Given the description of an element on the screen output the (x, y) to click on. 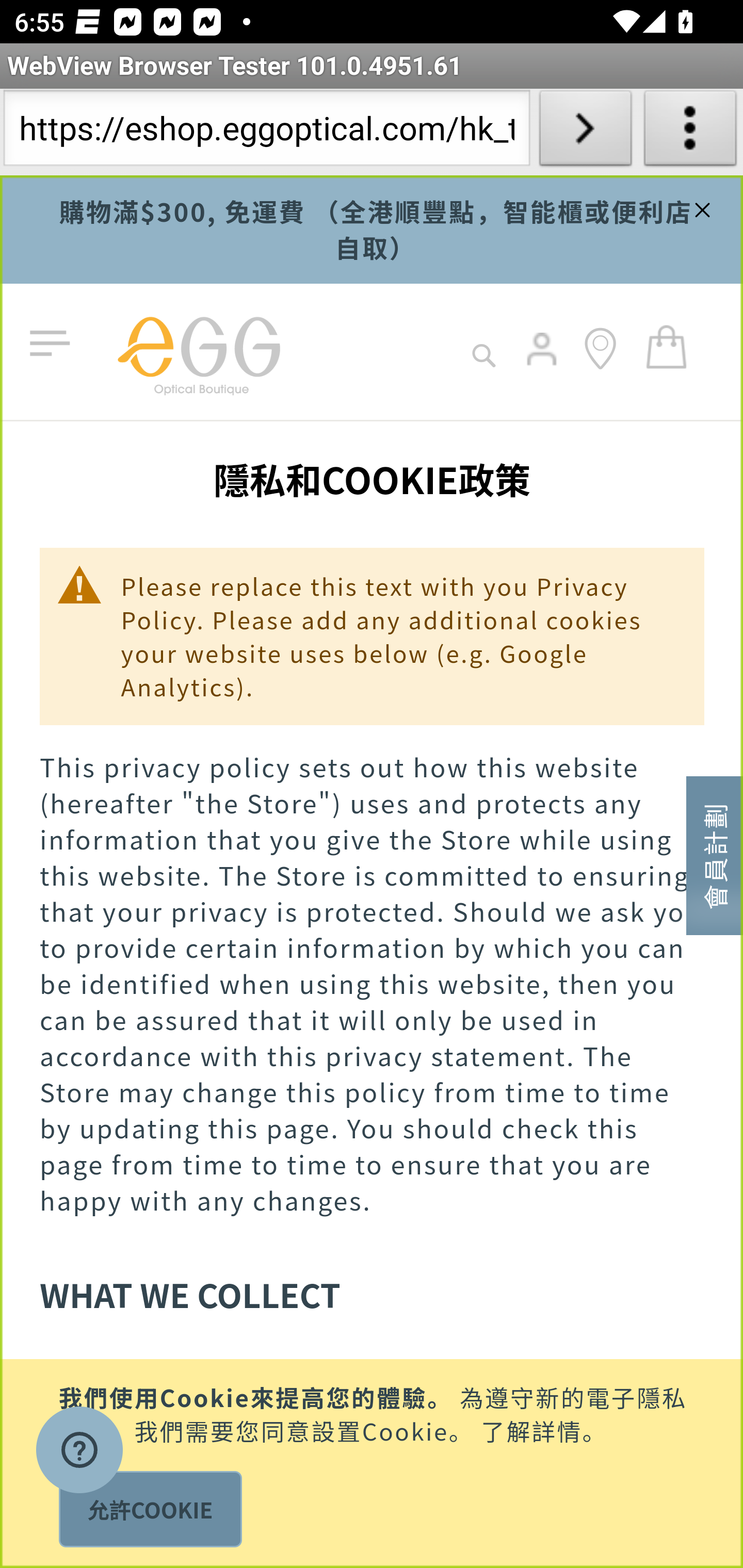
Load URL (585, 132)
About WebView (690, 132)
 (699, 206)
store logo eGG 網上商店 (198, 351)
切換導航 (54, 343)
我的購物車 (666, 345)
login (543, 362)
會員計劃 (714, 854)
Opens a widget where you can find more information (79, 1452)
了解詳情 (531, 1429)
允許COOKIE (149, 1509)
